Given the description of an element on the screen output the (x, y) to click on. 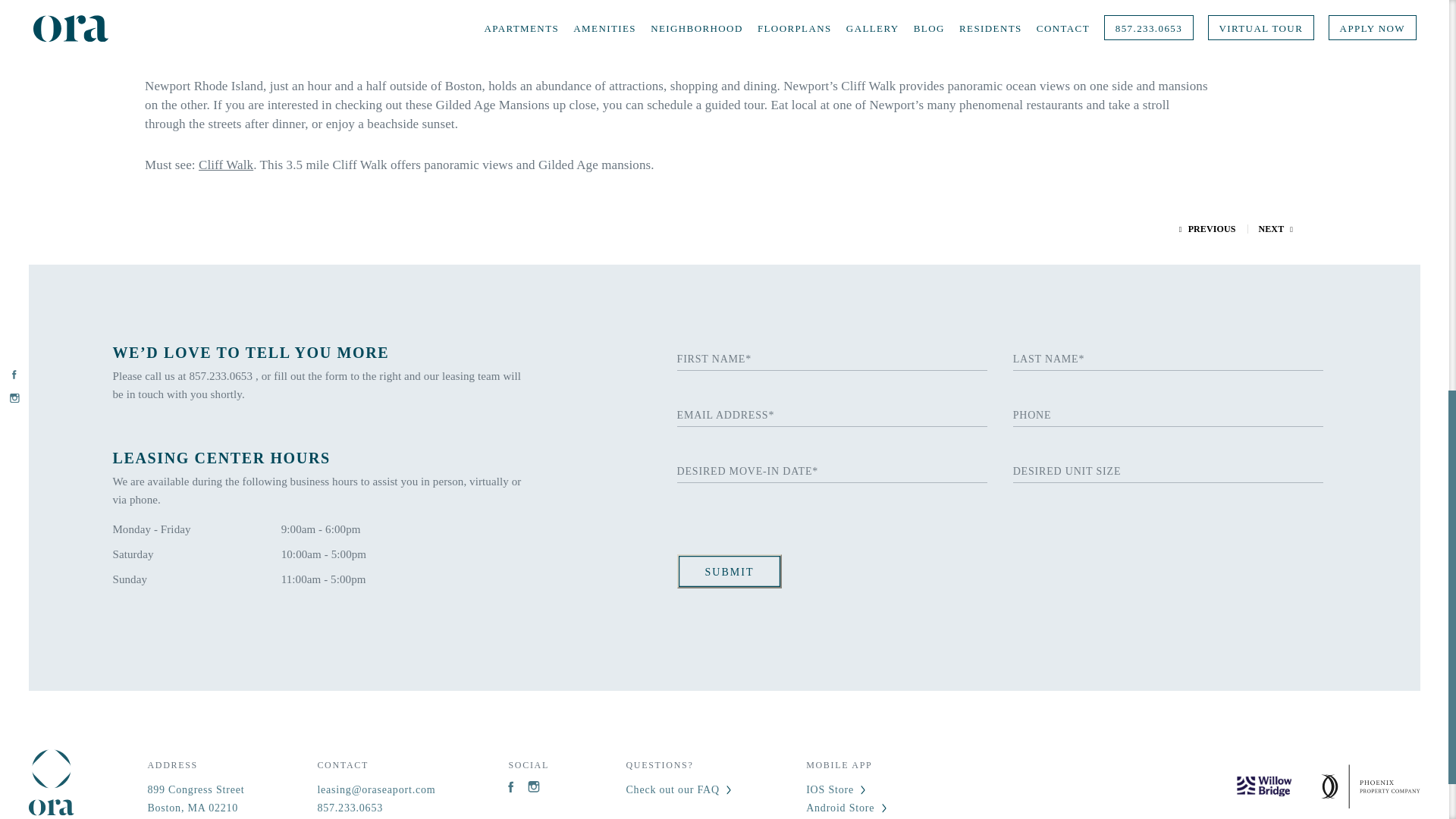
857.233.0653 (222, 376)
IOS Store (847, 790)
Cliff Walk (225, 164)
NEXT (1275, 228)
Submit (730, 571)
Android Store (195, 799)
click here to visit Facebook Page (847, 808)
Check out our FAQ (513, 787)
ORA Boston Seaport luxury apartments Google Maps location (679, 790)
click to go to Previous post (195, 799)
Click here to call ORA Boston Seaport (1207, 228)
857.233.0653 (376, 808)
click to go to Next post (376, 808)
PREVIOUS (1275, 228)
